Given the description of an element on the screen output the (x, y) to click on. 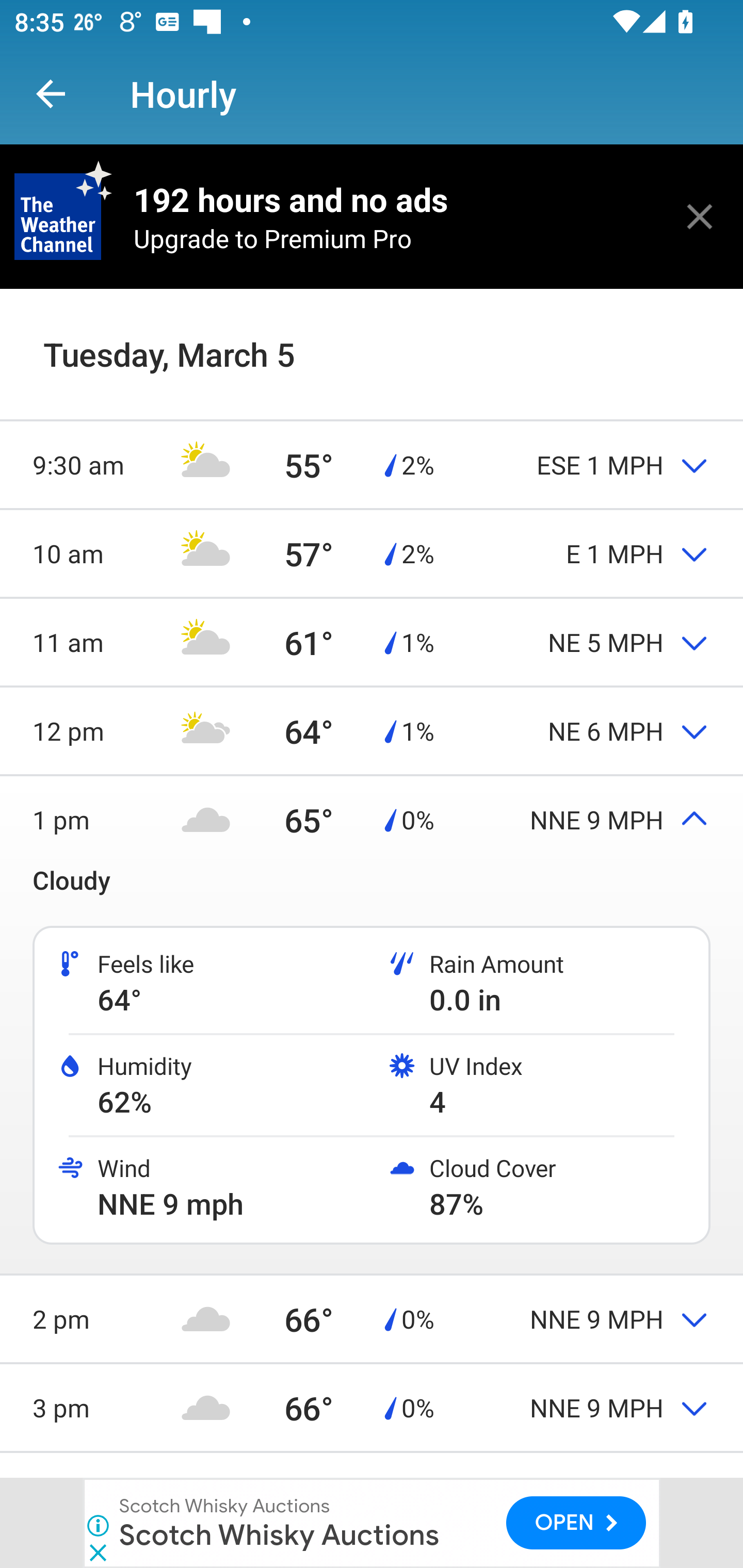
Navigate up (50, 93)
close this (699, 216)
9:30 am 55° 2% ESE 1 MPH (371, 464)
10 am 57° 2% E 1 MPH (371, 553)
11 am 61° 1% NE 5 MPH (371, 641)
12 pm 64° 1% NE 6 MPH (371, 730)
1 pm 65° 0% NNE 9 MPH (371, 819)
2 pm 66° 0% NNE 9 MPH (371, 1318)
3 pm 66° 0% NNE 9 MPH (371, 1407)
Scotch Whisky Auctions (225, 1505)
OPEN (576, 1522)
Scotch Whisky Auctions (278, 1533)
